Given the description of an element on the screen output the (x, y) to click on. 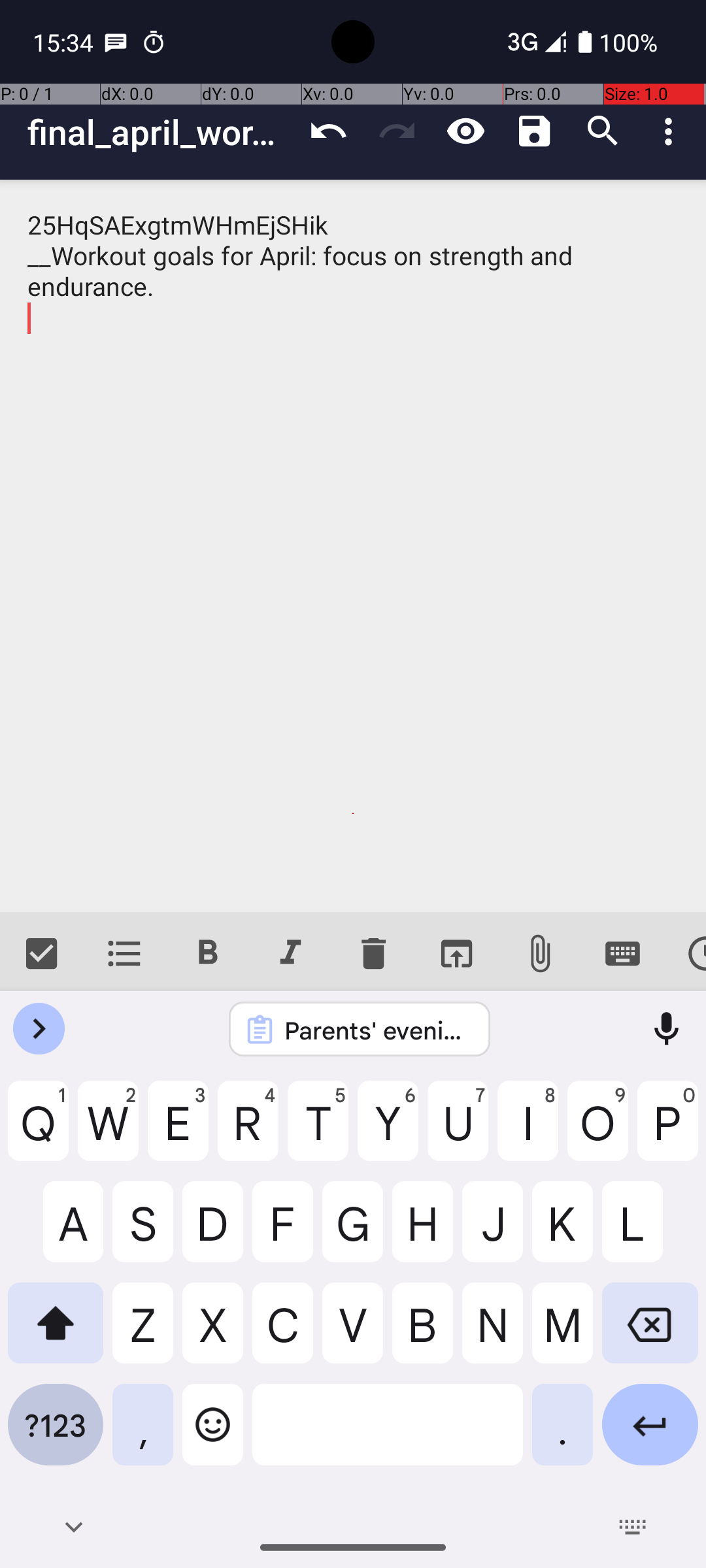
final_april_workout_routine Element type: android.widget.TextView (160, 131)
25HqSAExgtmWHmEjSHik
__Workout goals for April: focus on strength and endurance.
 Element type: android.widget.EditText (353, 545)
Parents' evening at school this Wednesday. Element type: android.widget.TextView (376, 1029)
